Given the description of an element on the screen output the (x, y) to click on. 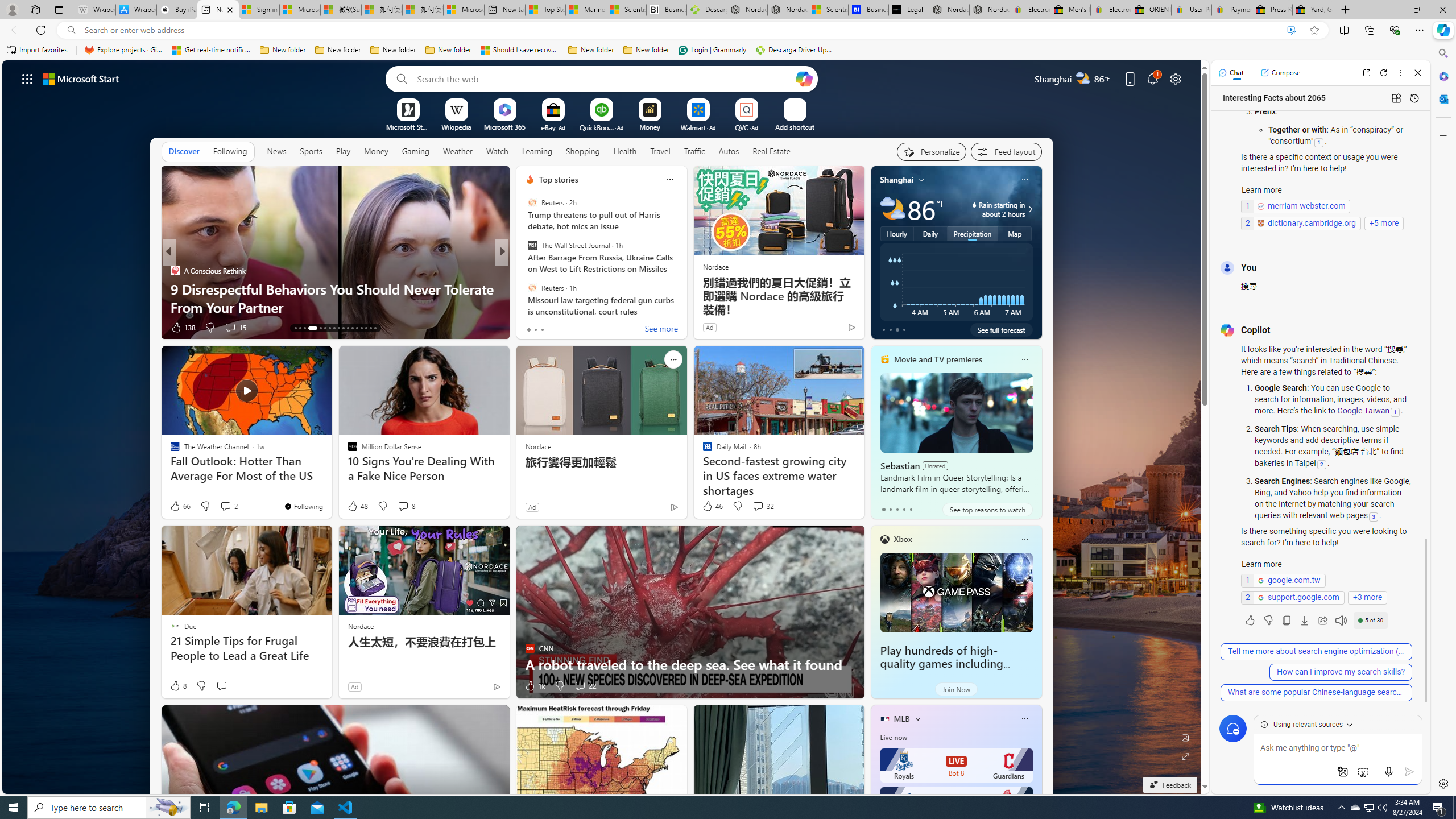
AutomationID: tab-21 (338, 328)
8 Like (177, 685)
AutomationID: tab-16 (309, 328)
View comments 1k Comment (581, 327)
Enhance video (1291, 29)
11 Like (530, 327)
View comments 1k Comment (576, 327)
